Given the description of an element on the screen output the (x, y) to click on. 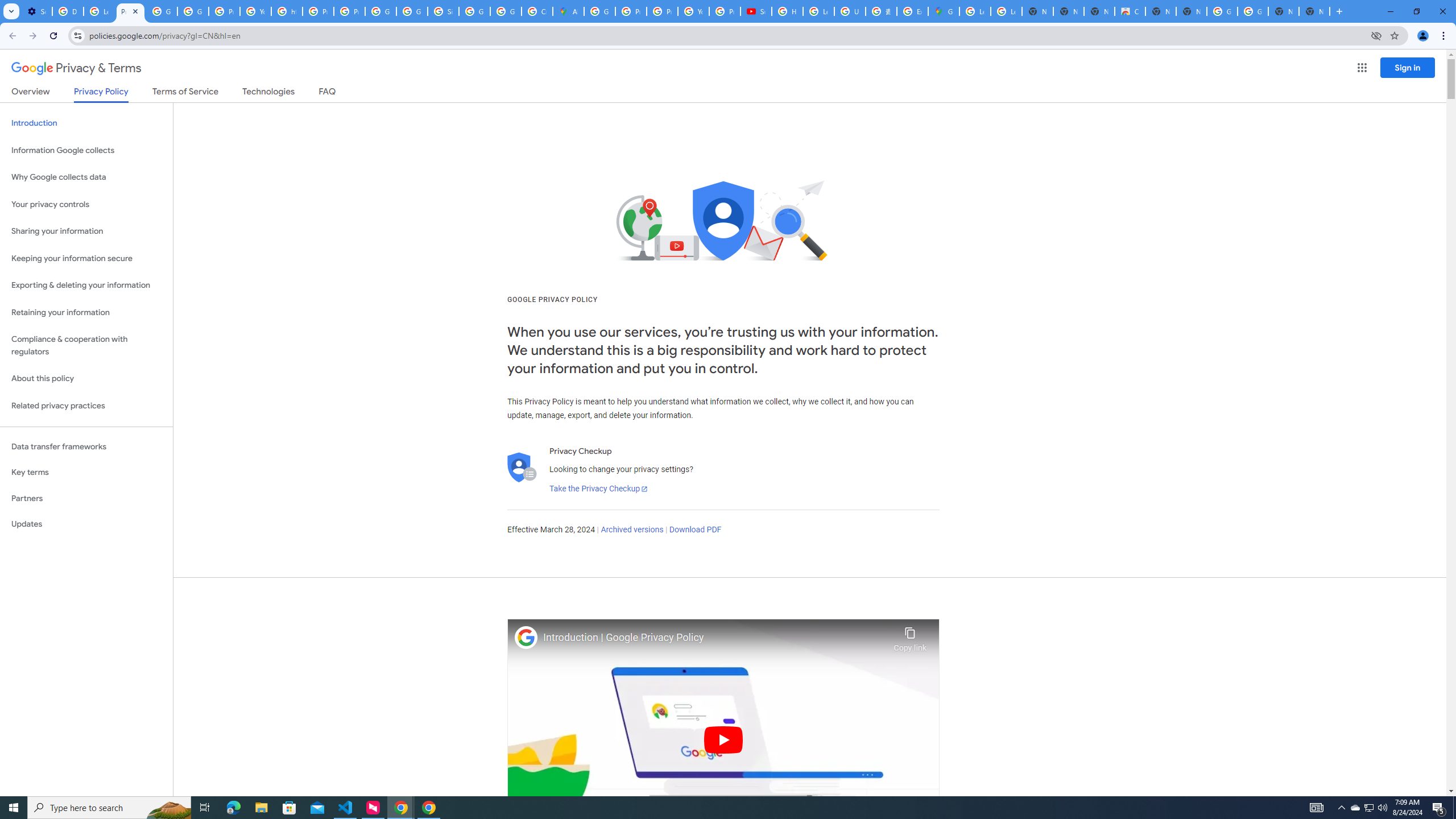
YouTube (255, 11)
Google Maps (943, 11)
Google Images (1222, 11)
